Given the description of an element on the screen output the (x, y) to click on. 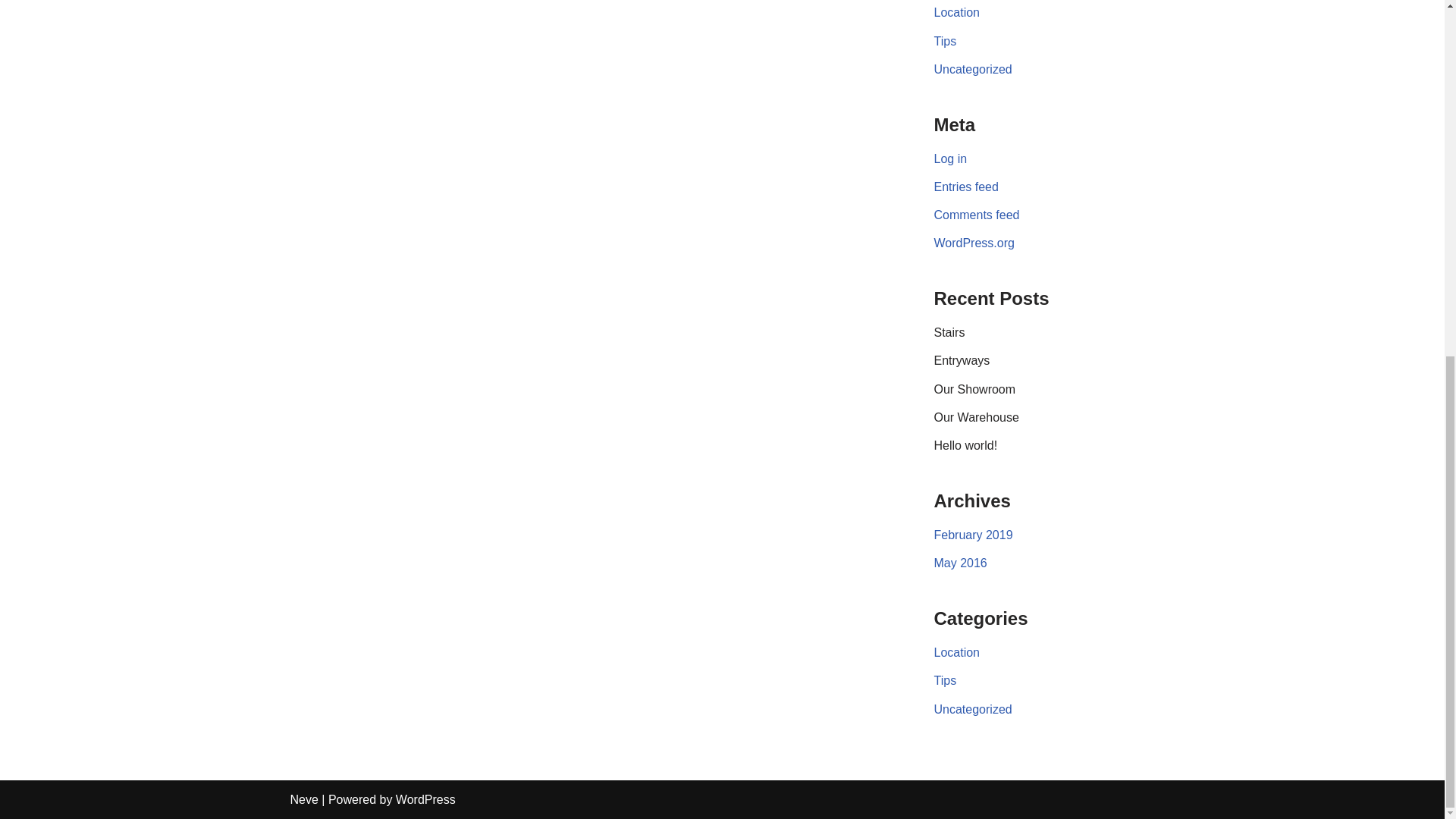
Our Showroom (975, 389)
Our Warehouse (976, 417)
Tips (945, 680)
WordPress.org (974, 242)
Entryways (962, 359)
Entries feed (966, 186)
Uncategorized (972, 69)
Stairs (949, 332)
Comments feed (977, 214)
Hello world! (965, 445)
Location (956, 11)
Log in (951, 158)
Location (956, 652)
Tips (945, 41)
May 2016 (960, 562)
